Given the description of an element on the screen output the (x, y) to click on. 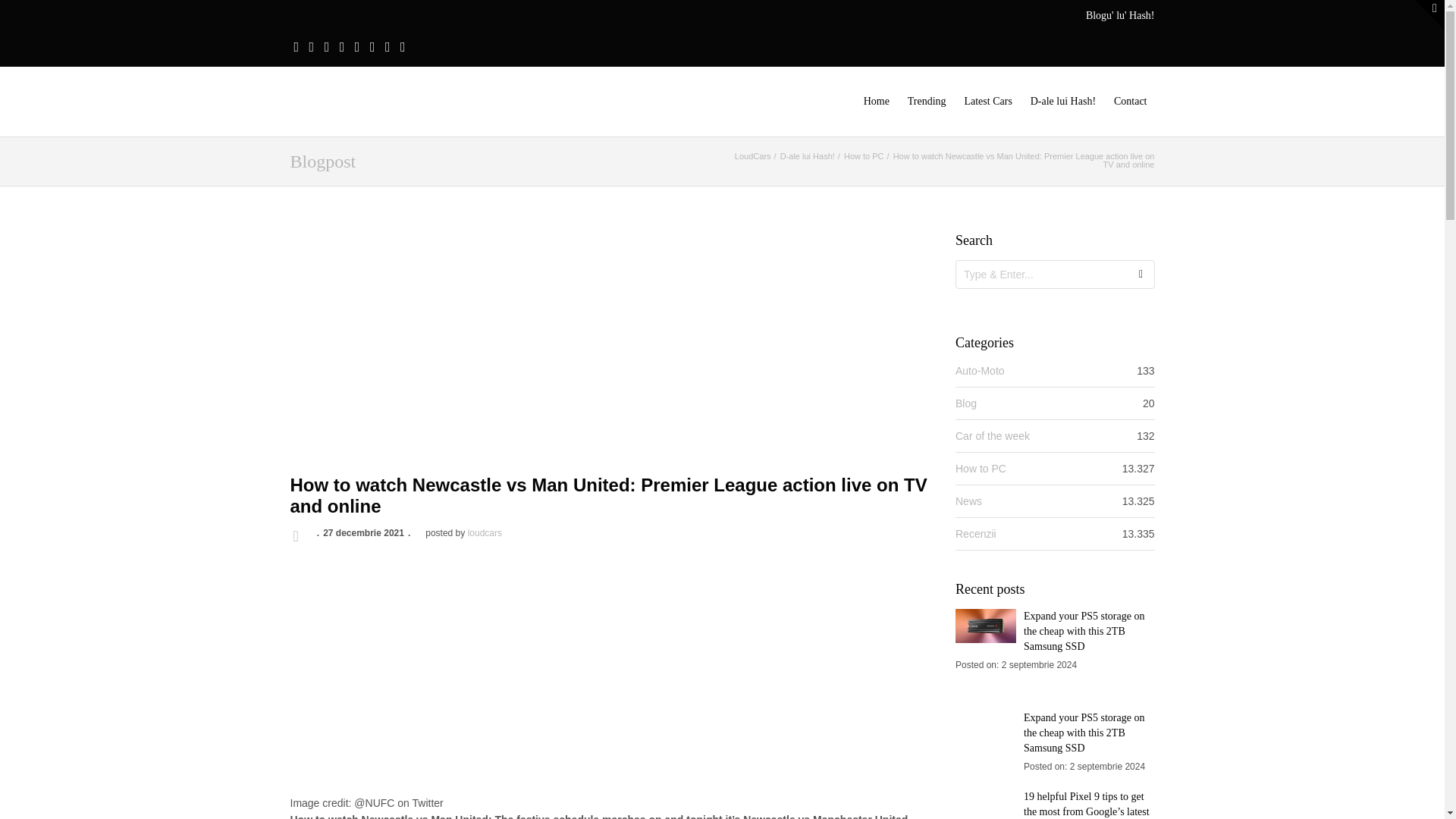
LoudCars (753, 155)
D-ale lui Hash! (807, 155)
loudcars (484, 532)
D-ale lui Hash! (1063, 101)
Home (876, 101)
Latest Cars (987, 101)
Contact (1130, 101)
How to PC (863, 155)
Trending (926, 101)
